Given the description of an element on the screen output the (x, y) to click on. 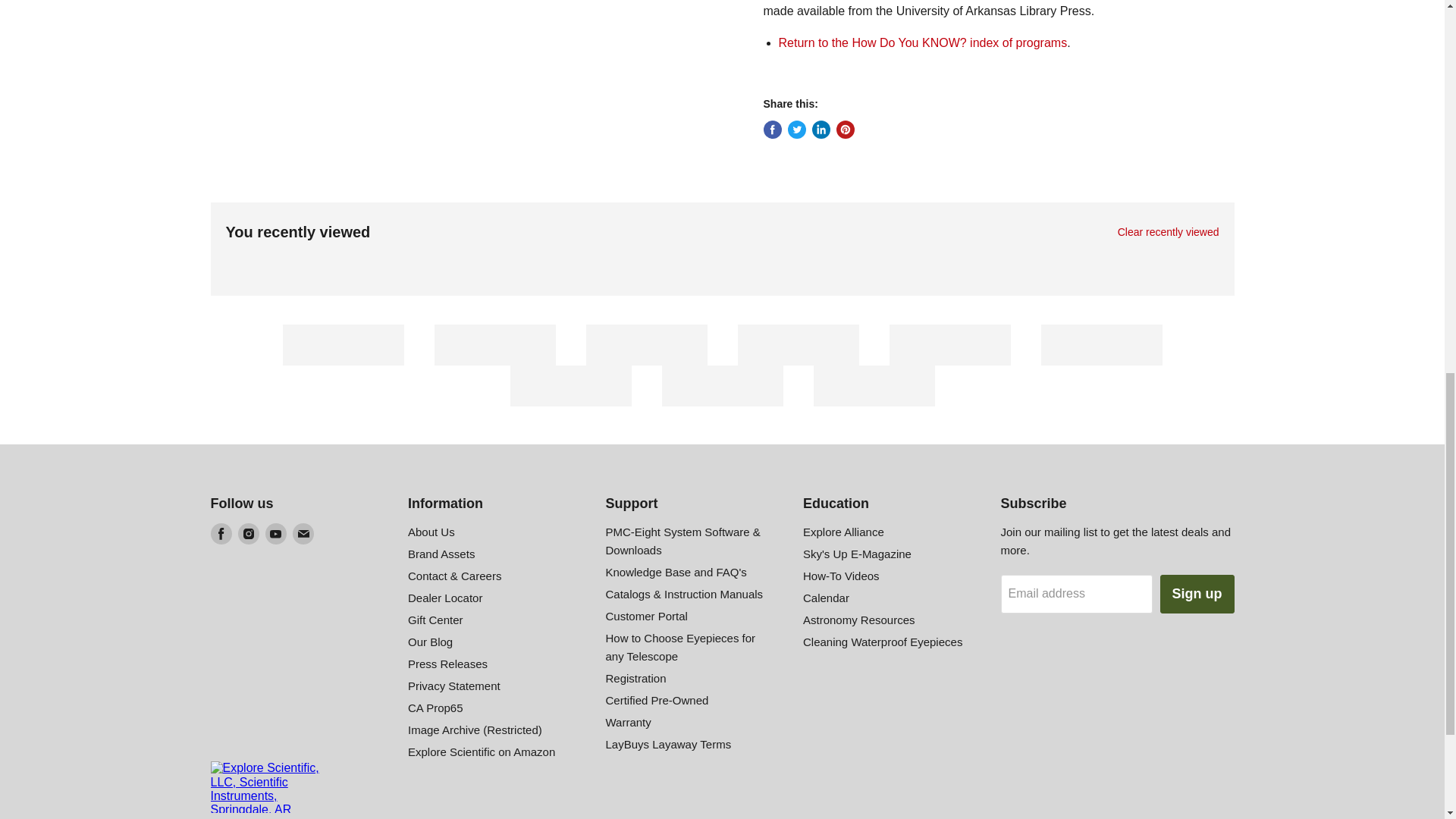
How Do You KNOW? Index of Programs (922, 42)
Facebook (221, 533)
Instagram (248, 533)
Page 1 (997, 26)
Youtube (275, 533)
Email (303, 533)
Page 1 (997, 10)
